Given the description of an element on the screen output the (x, y) to click on. 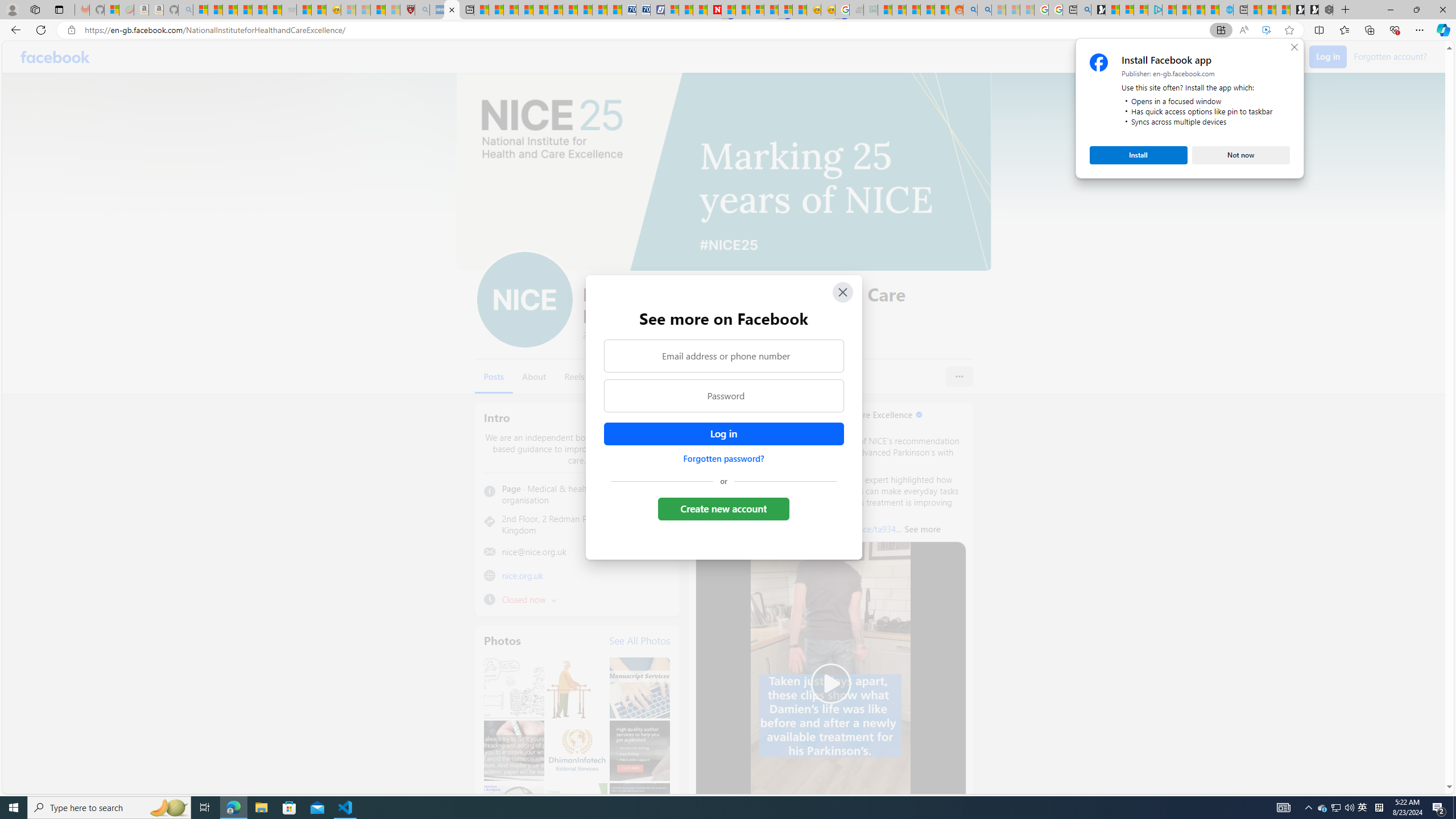
Forgotten password? (1335, 807)
Microsoft Store (723, 458)
Bing Real Estate - Home sales and rental listings (289, 807)
Type here to search (1083, 9)
World - MSN (108, 807)
Password (510, 9)
Cheap Car Rentals - Save70.com (723, 395)
